Given the description of an element on the screen output the (x, y) to click on. 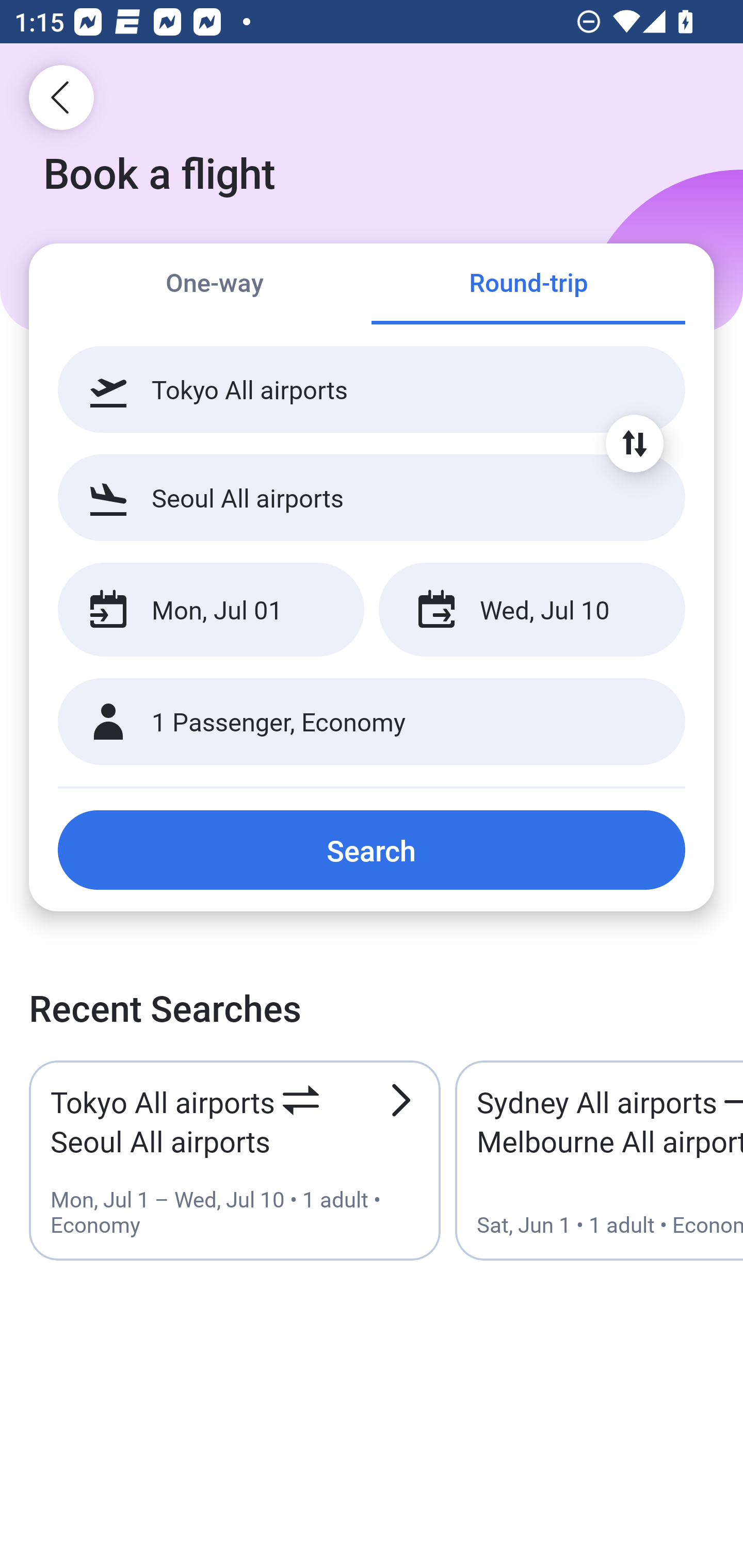
One-way (214, 284)
Tokyo All airports (371, 389)
Seoul All airports (371, 497)
Mon, Jul 01 (210, 609)
Wed, Jul 10 (531, 609)
1 Passenger, Economy (371, 721)
Search (371, 849)
